Given the description of an element on the screen output the (x, y) to click on. 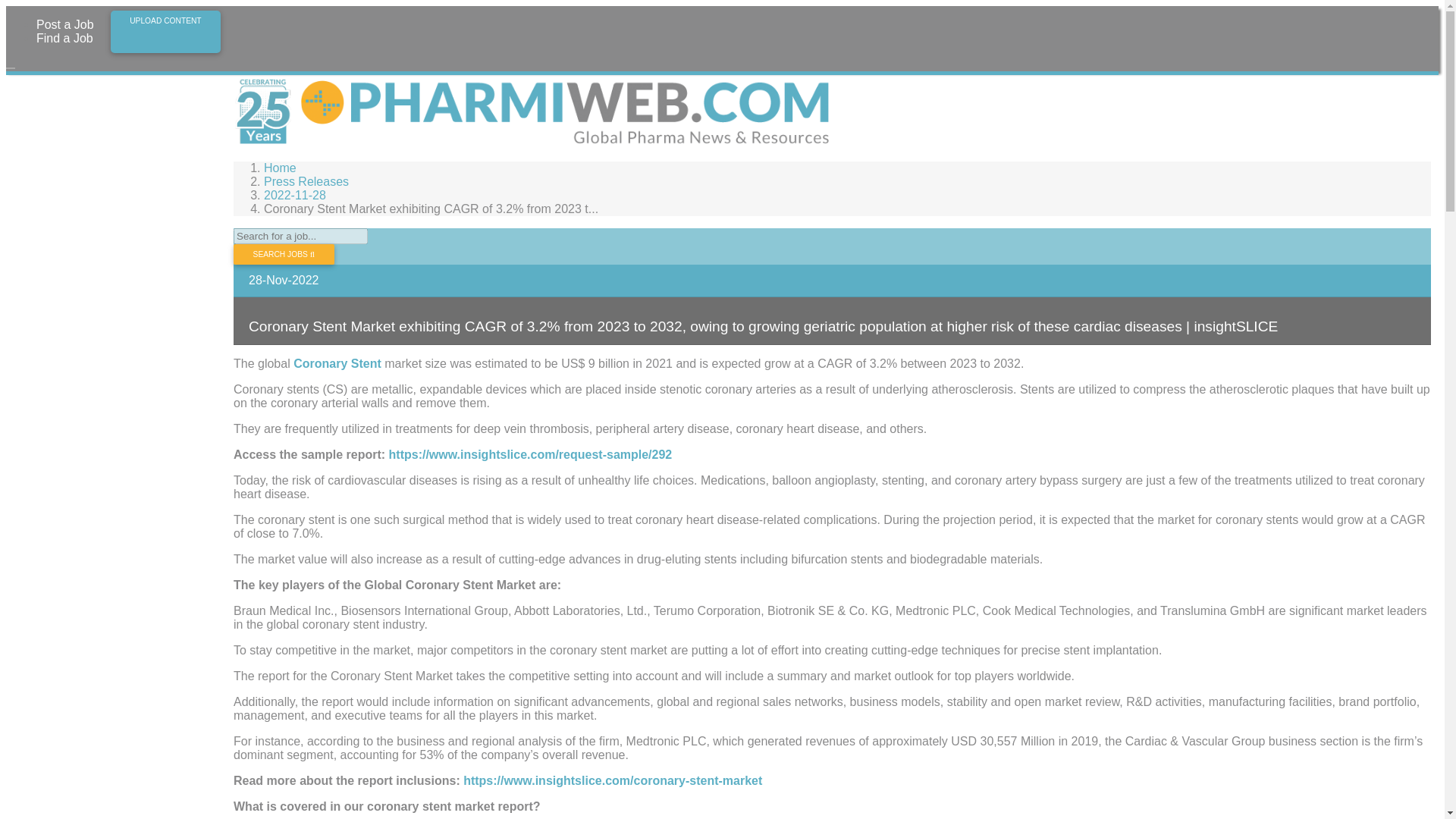
SEARCH JOBS (283, 254)
Coronary Stent (337, 363)
Press Releases (306, 181)
Find a Job (71, 38)
2022-11-28 (294, 195)
Home (280, 167)
Post a Job (71, 24)
UPLOAD CONTENT (165, 31)
